Given the description of an element on the screen output the (x, y) to click on. 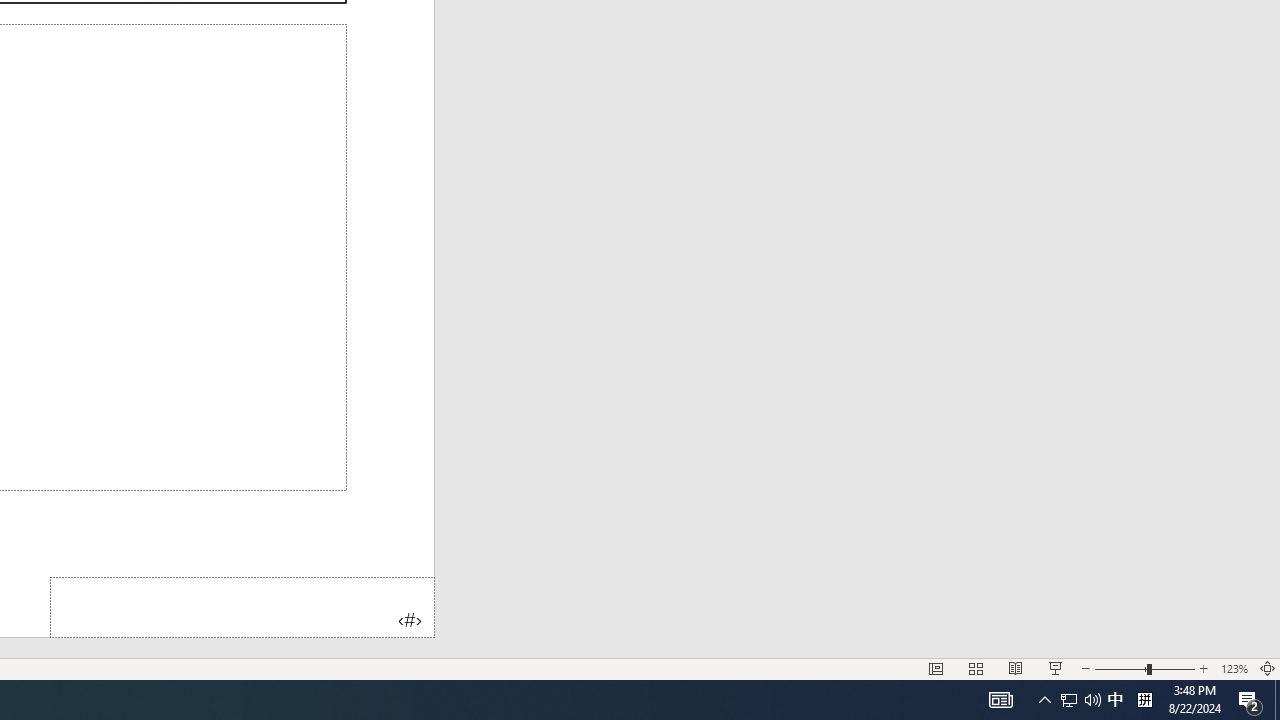
Page Number (242, 606)
Zoom 123% (1234, 668)
